Given the description of an element on the screen output the (x, y) to click on. 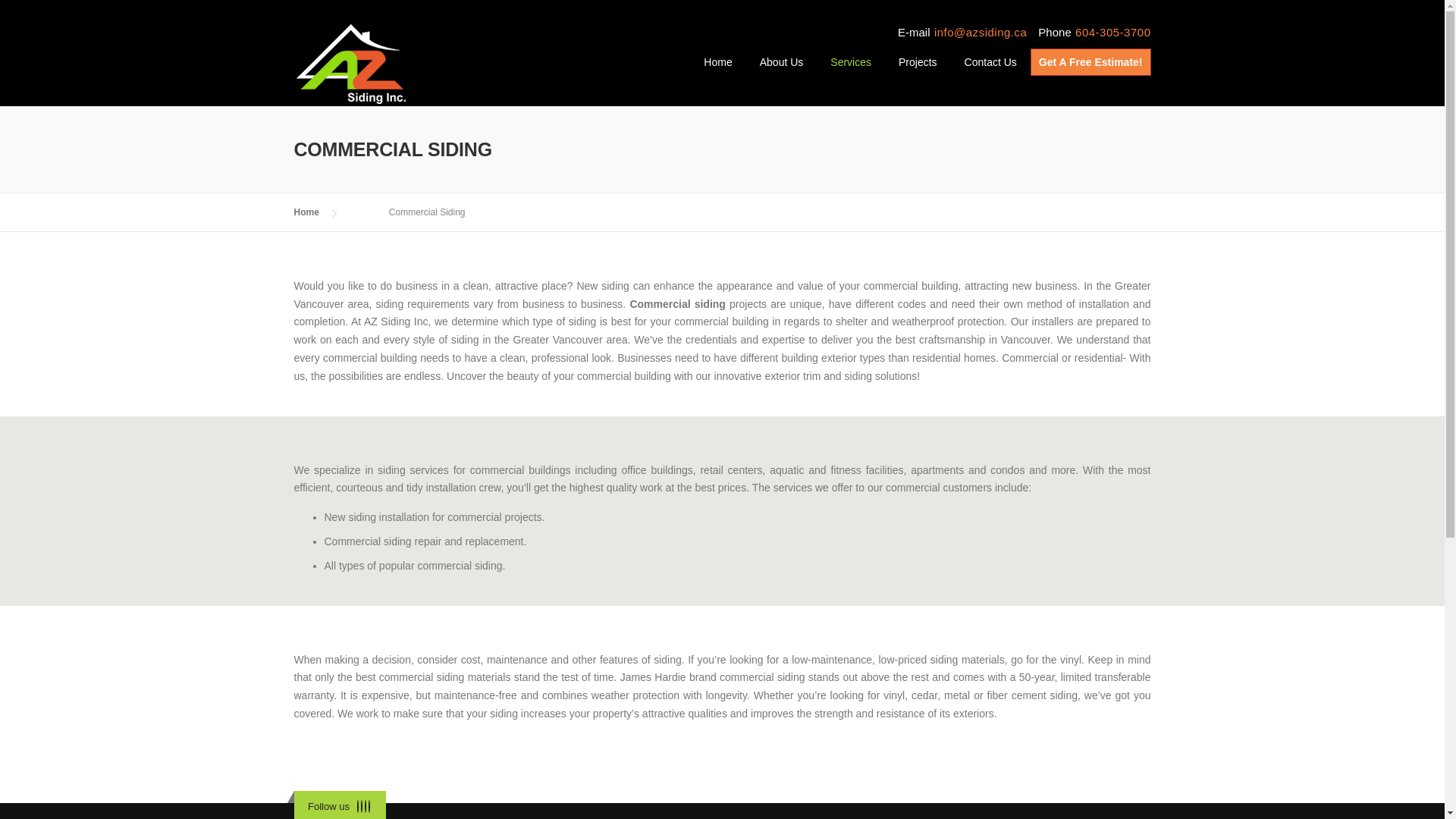
Get A Free Estimate! Element type: text (1090, 61)
Skip to content Element type: text (35, 9)
Contact Us Element type: text (990, 73)
Projects Element type: text (917, 73)
About Us Element type: text (781, 73)
Home Element type: text (306, 211)
Google Plus Element type: hover (369, 806)
info@azsiding.ca Element type: text (980, 31)
Facebook Element type: hover (361, 806)
Home Element type: text (717, 73)
Services Element type: text (850, 73)
604-305-3700 Element type: text (1112, 31)
Pinterest Element type: hover (365, 806)
Twitter Element type: hover (357, 806)
